Given the description of an element on the screen output the (x, y) to click on. 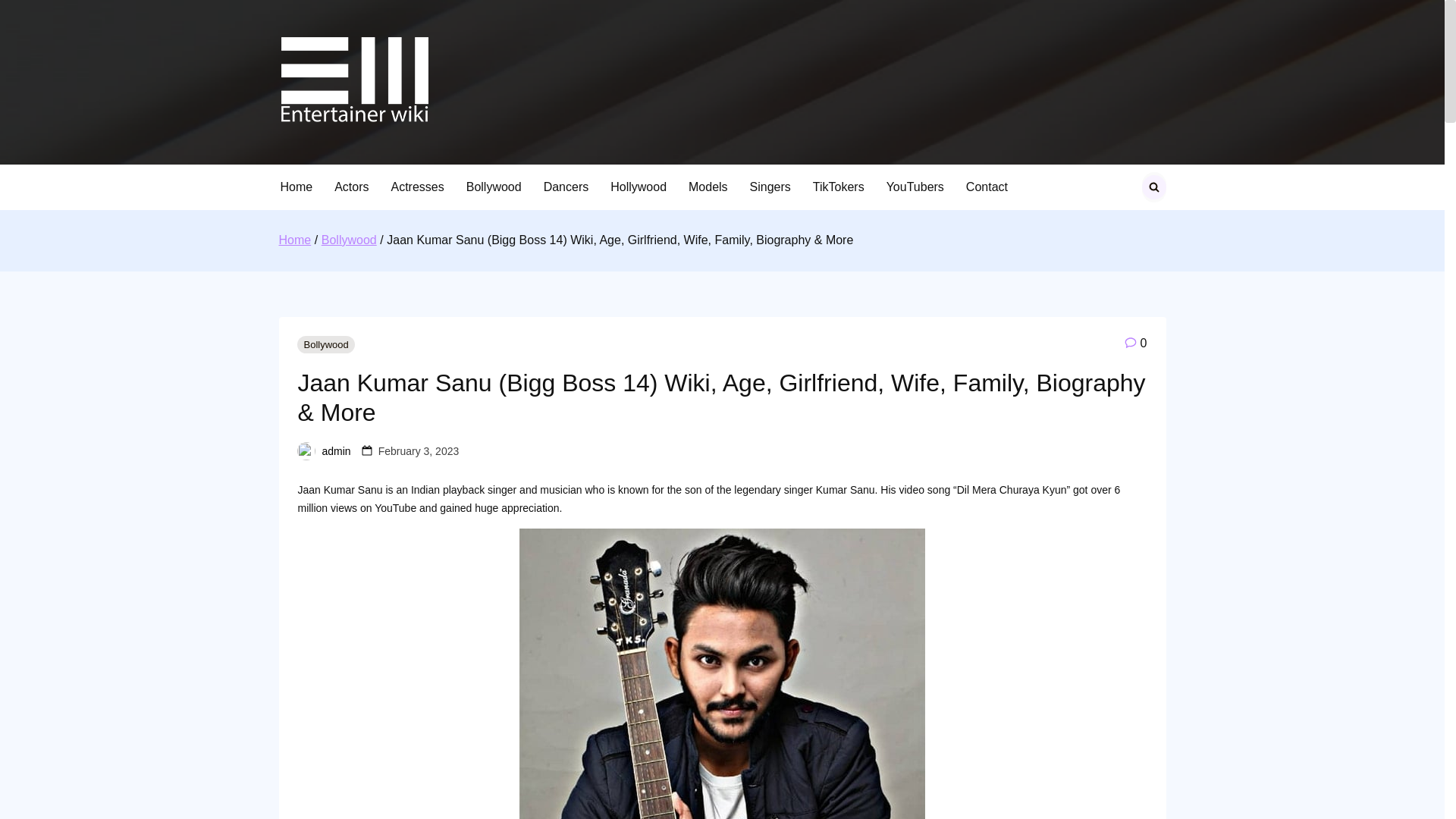
Home (295, 239)
Search (22, 17)
Actresses (417, 186)
Bollywood (325, 344)
TikTokers (838, 186)
Contact (986, 186)
admin (335, 451)
YouTubers (914, 186)
Dancers (566, 186)
Hollywood (638, 186)
